Given the description of an element on the screen output the (x, y) to click on. 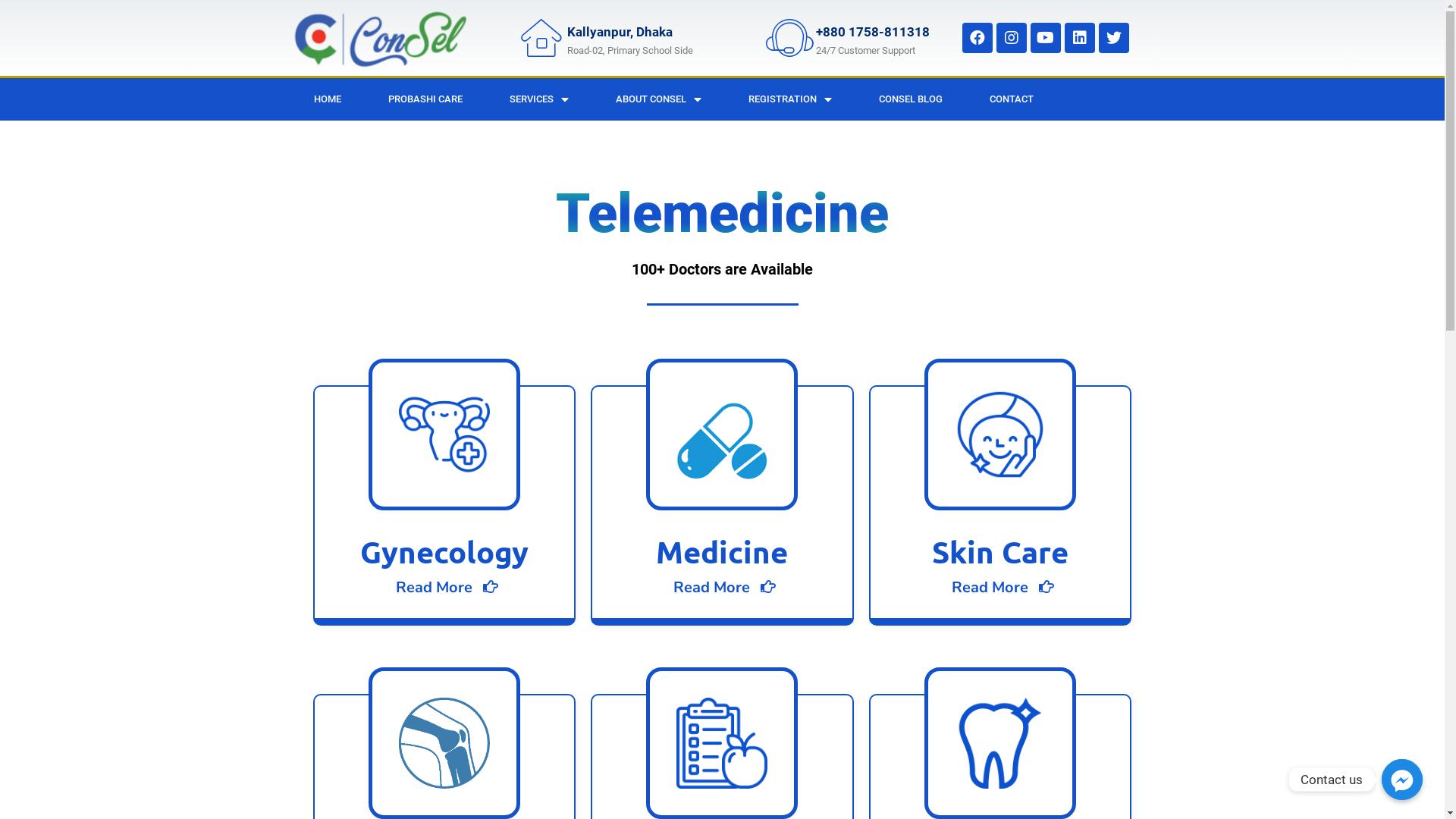
Read More Element type: text (443, 587)
PROBASHI CARE Element type: text (424, 99)
Read More Element type: text (999, 587)
CONTACT Element type: text (1011, 99)
SERVICES Element type: text (538, 99)
Read More Element type: text (721, 587)
CONSEL BLOG Element type: text (910, 99)
ABOUT CONSEL Element type: text (657, 99)
REGISTRATION Element type: text (789, 99)
Contact us Element type: text (1401, 779)
HOME Element type: text (326, 99)
